Given the description of an element on the screen output the (x, y) to click on. 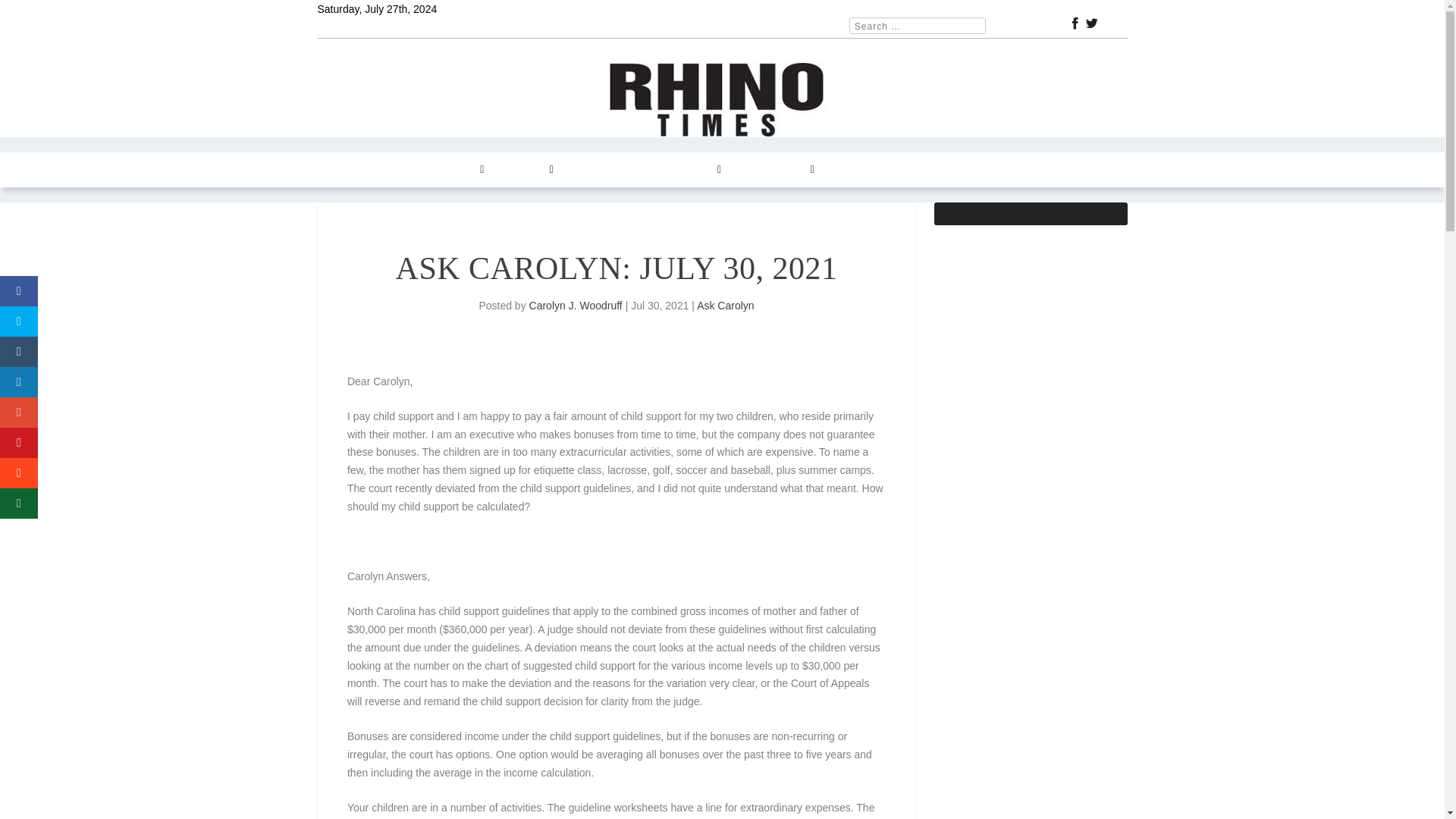
ARCHIVES (689, 169)
ABOUT US (858, 169)
CONTACT US (775, 169)
OPINION (526, 169)
NEWS (390, 169)
REAL ESTATE (606, 169)
Search (31, 13)
HOME (342, 169)
COLUMNS (453, 169)
OBITUARIES (935, 169)
Posts by Carolyn J. Woodruff (576, 305)
